Given the description of an element on the screen output the (x, y) to click on. 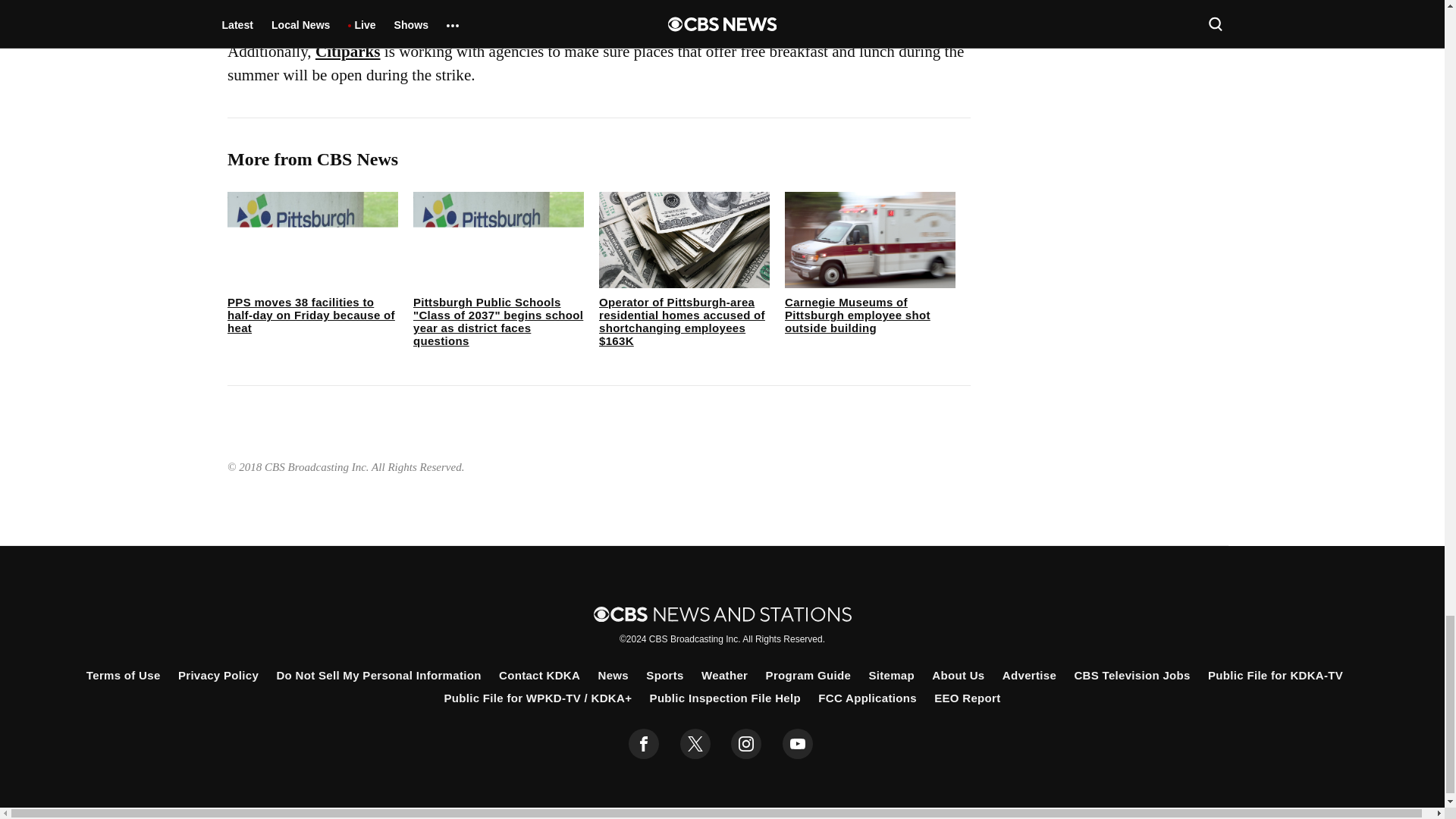
twitter (694, 743)
facebook (643, 743)
instagram (745, 743)
youtube (797, 743)
